Given the description of an element on the screen output the (x, y) to click on. 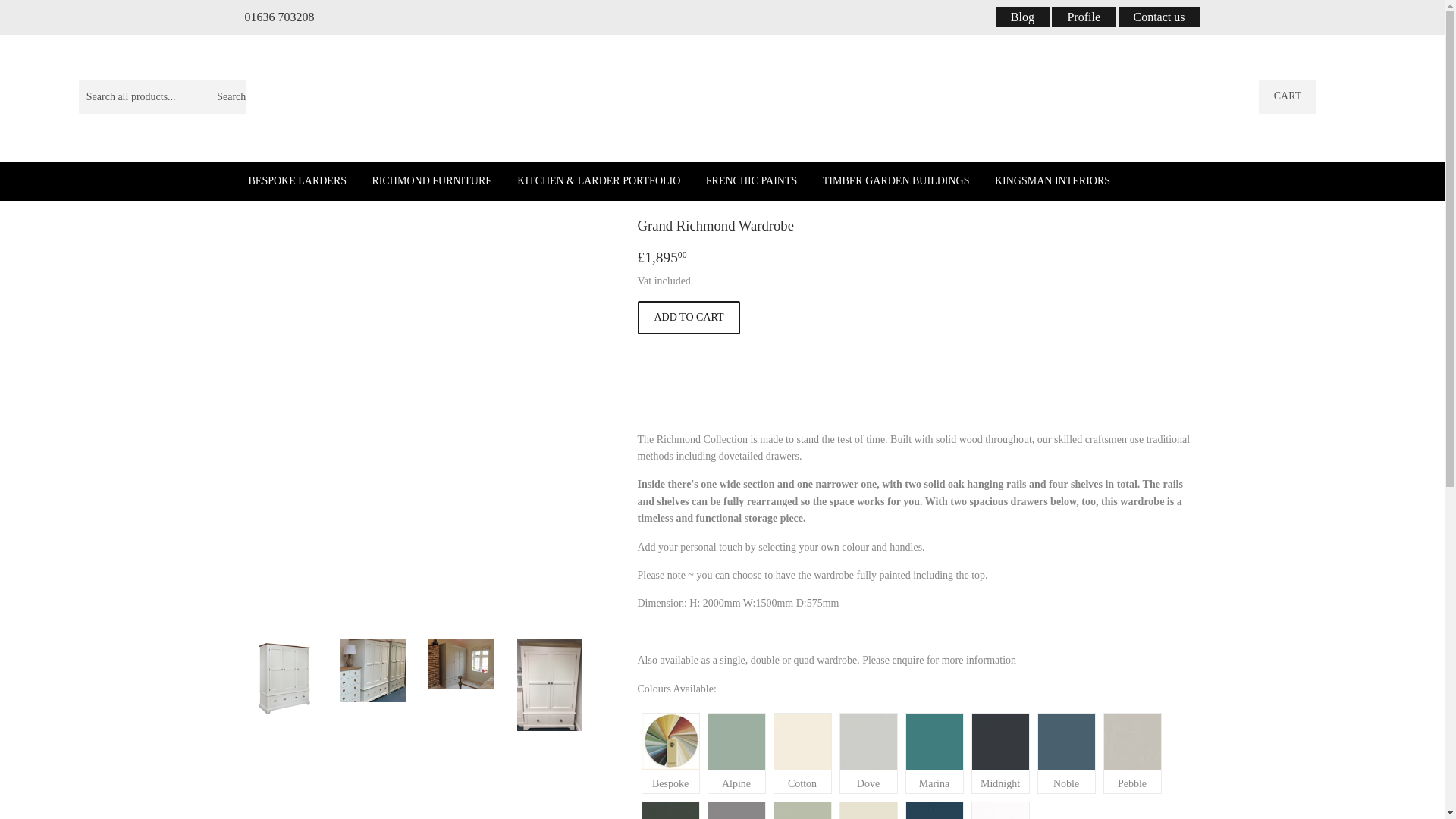
BESPOKE LARDERS (296, 180)
ADD TO CART (688, 317)
About Emma Jayne Home (1083, 16)
RICHMOND FURNITURE (432, 180)
FRENCHIC PAINTS (751, 180)
Get the latest news and information (1022, 16)
CART (1288, 96)
KINGSMAN INTERIORS (1052, 180)
TIMBER GARDEN BUILDINGS (895, 180)
Contact Emma Jayne Home (1158, 16)
